Given the description of an element on the screen output the (x, y) to click on. 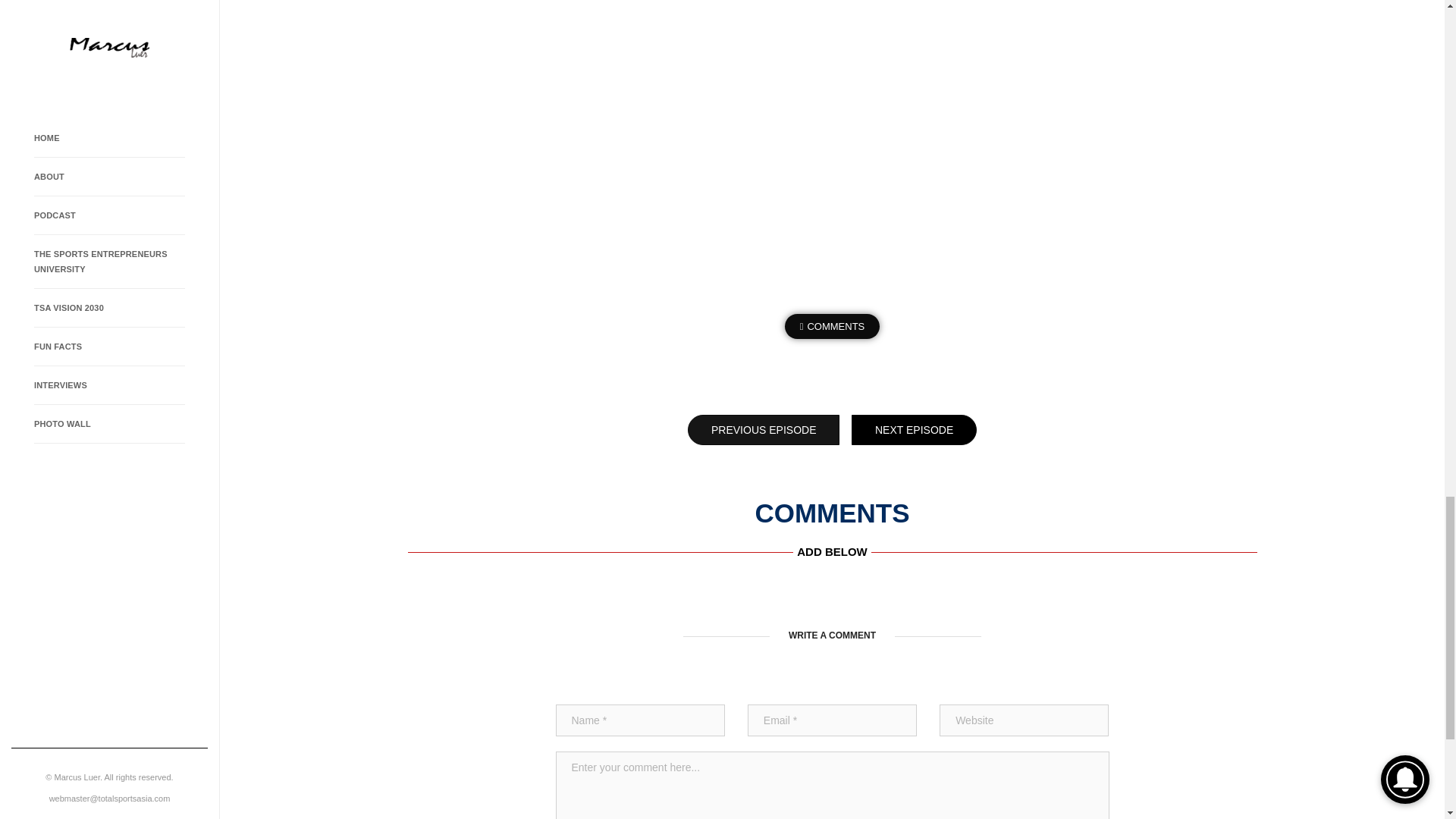
NEXT EPISODE (913, 429)
PREVIOUS EPISODE (763, 429)
COMMENTS (832, 326)
